Given the description of an element on the screen output the (x, y) to click on. 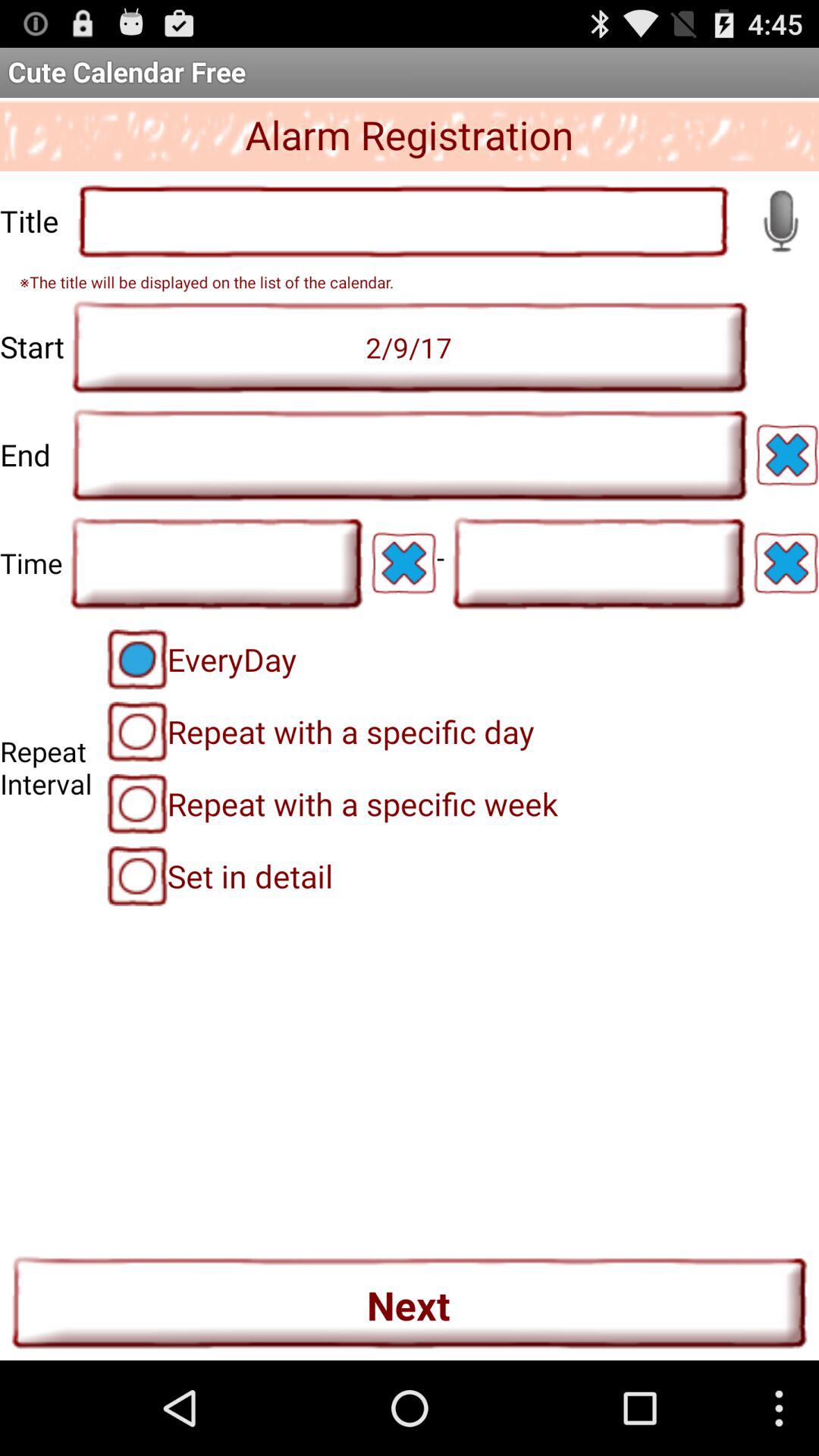
enter alarm title (403, 221)
